Given the description of an element on the screen output the (x, y) to click on. 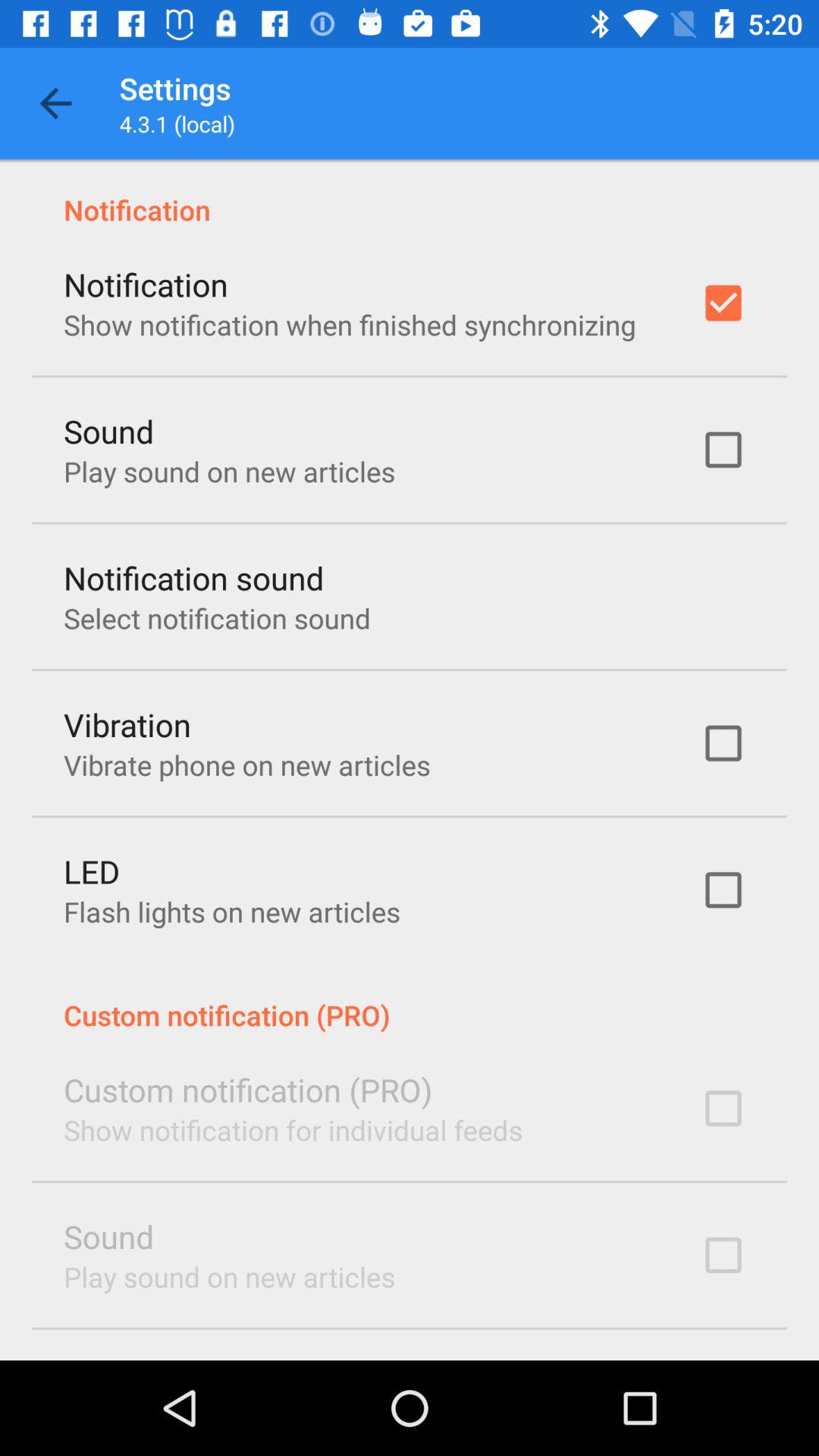
jump to vibrate phone on (246, 764)
